Given the description of an element on the screen output the (x, y) to click on. 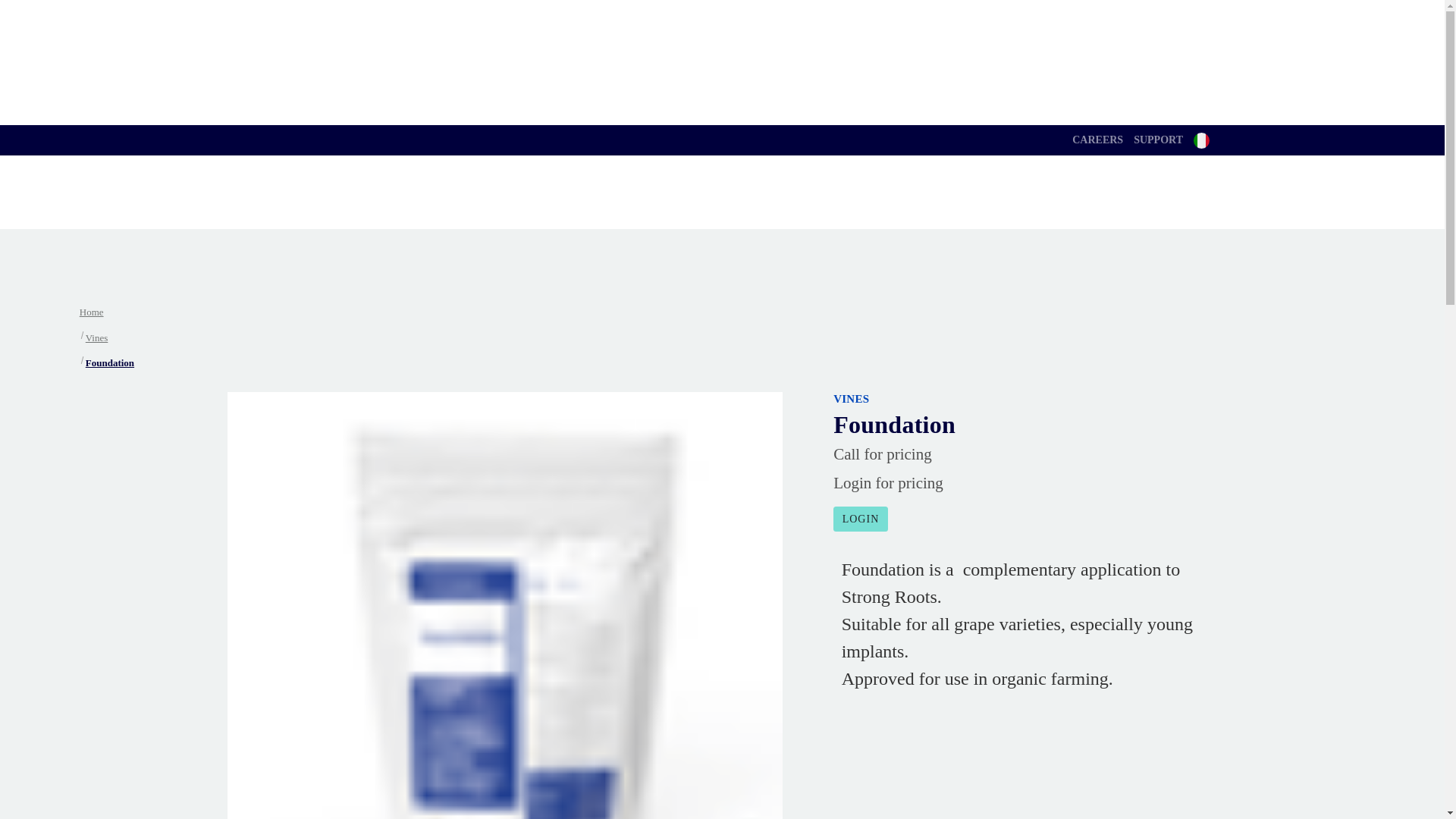
CAREERS (1097, 139)
Vines (96, 337)
OUR SOLUTIONS (582, 207)
LOGIN (860, 519)
WHO WE ARE (440, 207)
CONTACT US (788, 207)
Foundation (109, 363)
SUPPORT (1158, 139)
NEWS (691, 207)
Home (91, 312)
